Given the description of an element on the screen output the (x, y) to click on. 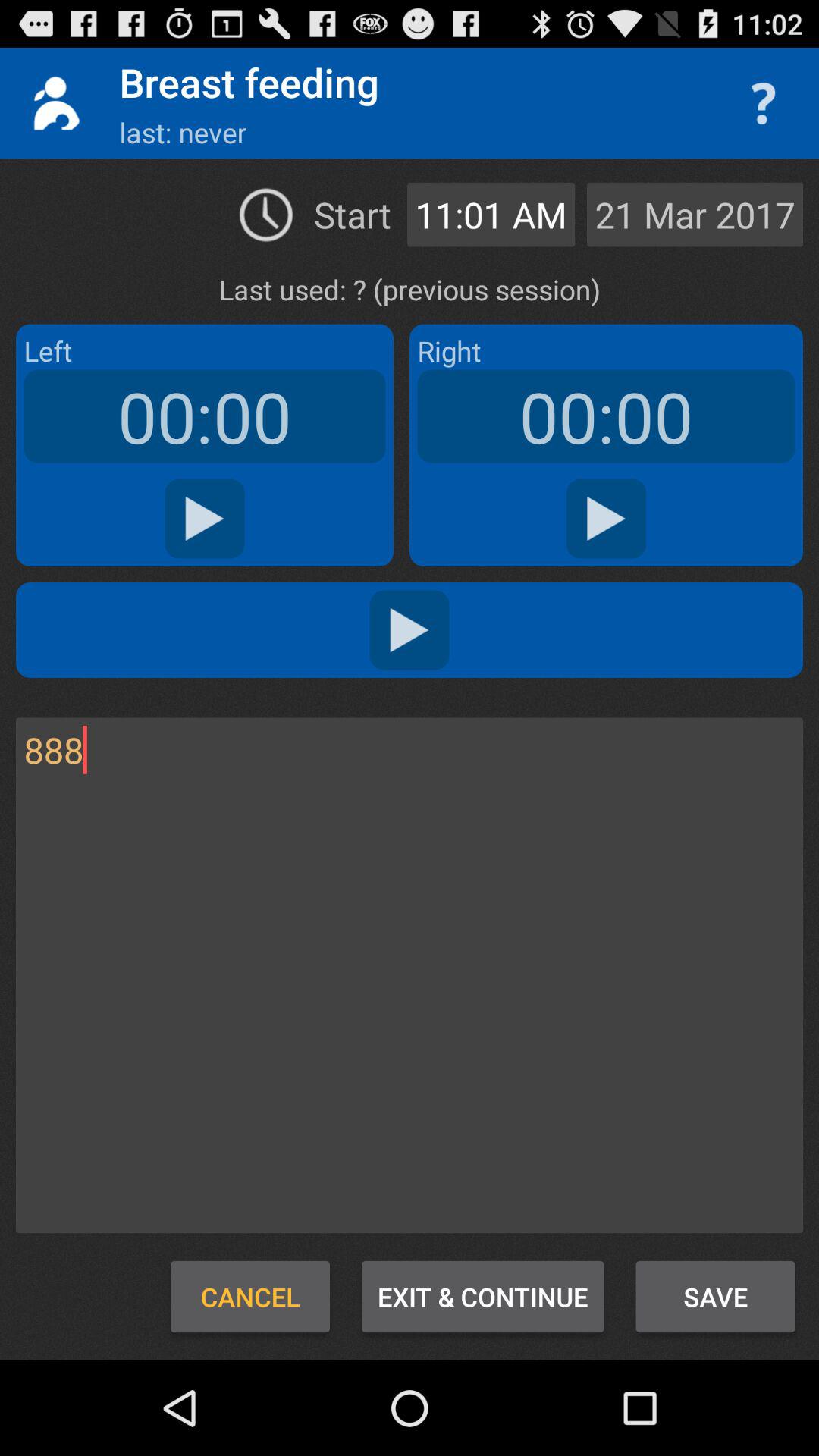
click on exit  continue (482, 1296)
